Given the description of an element on the screen output the (x, y) to click on. 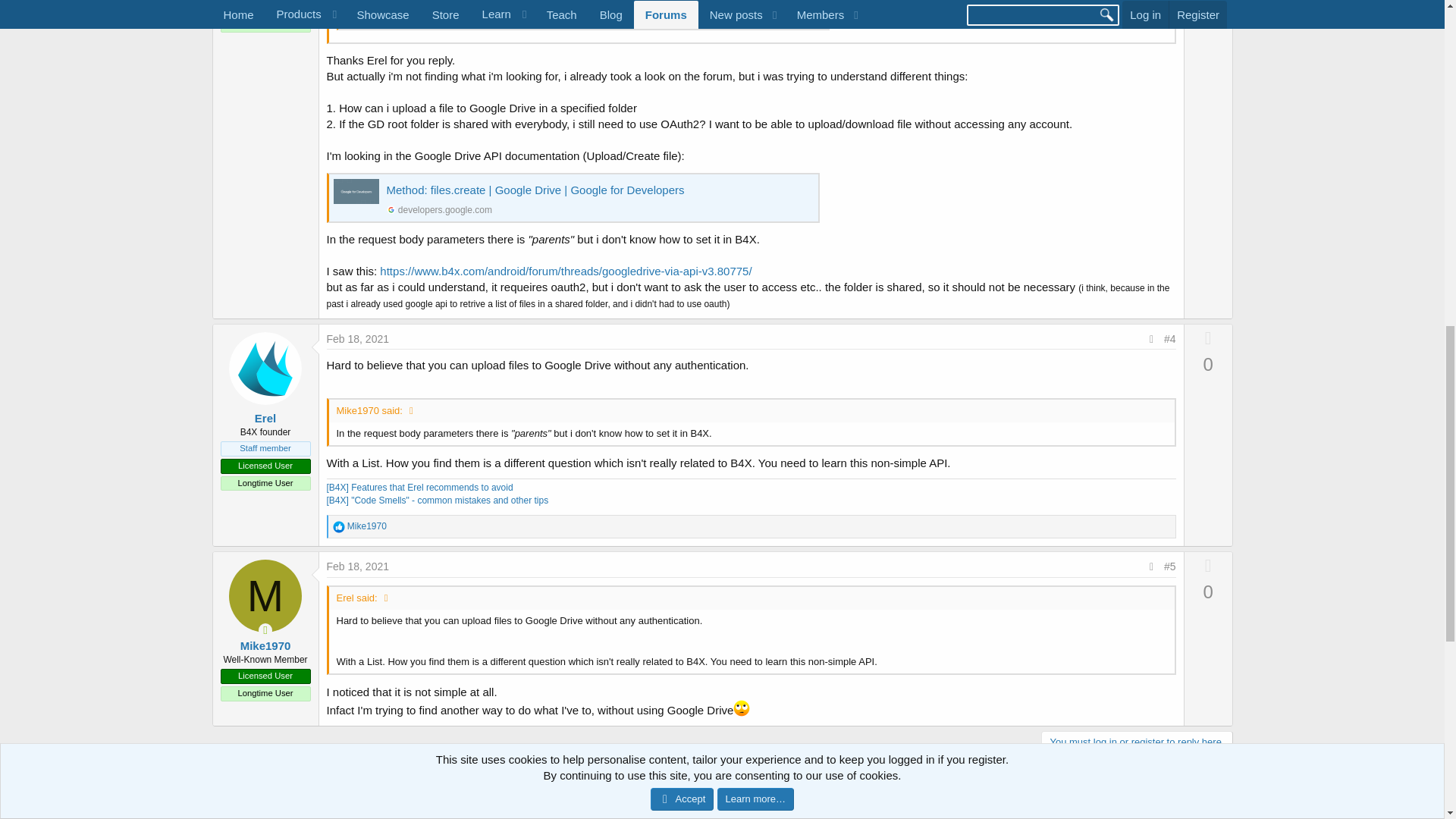
Jun 22, 2023 at 10:27 AM (1162, 814)
First message reaction score: 25 (1006, 809)
Feb 18, 2021 at 4:37 PM (357, 566)
Roll Eyes    :rolleyes: (741, 708)
Like (337, 526)
Feb 18, 2021 at 4:04 PM (357, 338)
